Given the description of an element on the screen output the (x, y) to click on. 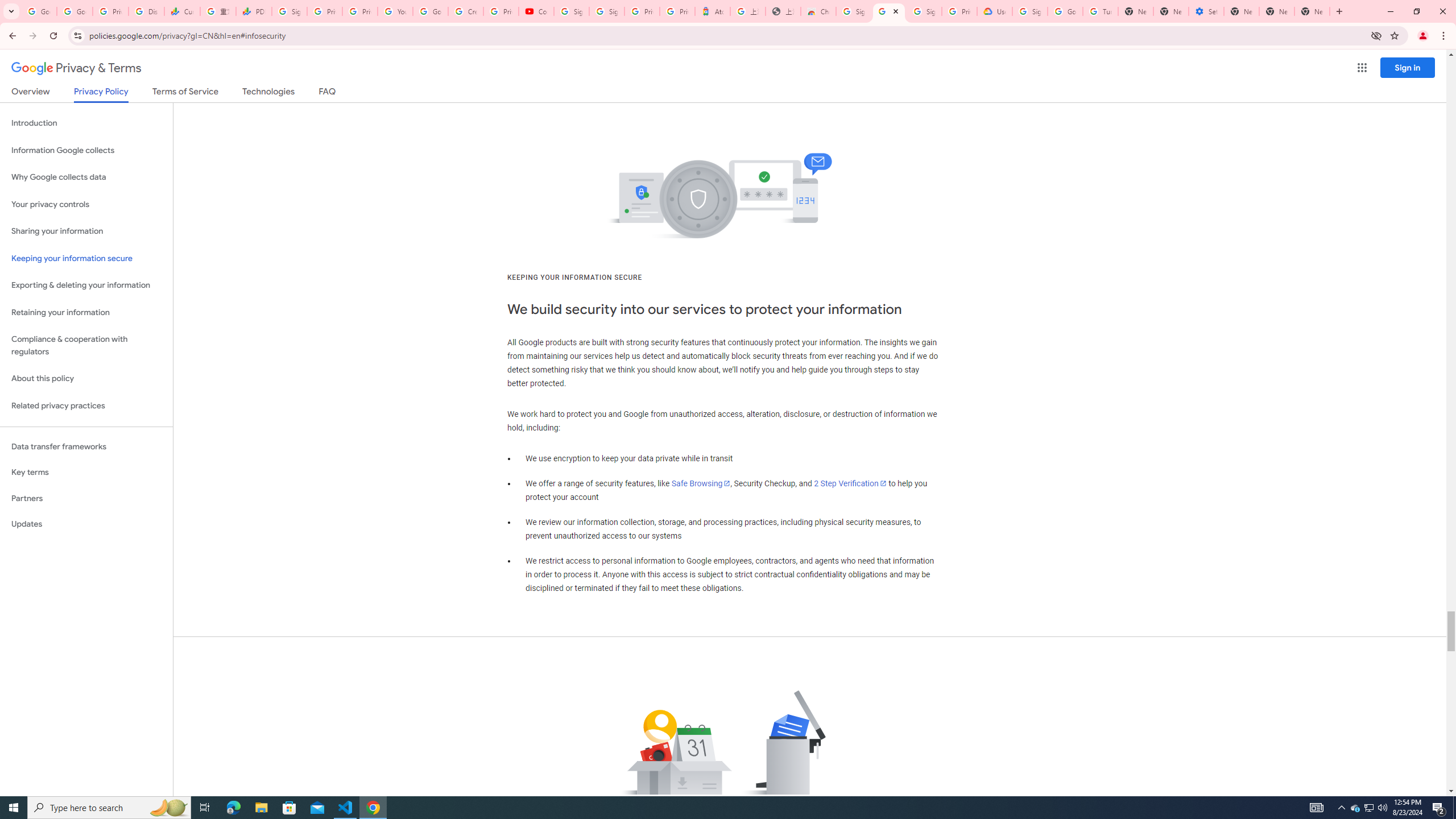
Sign in - Google Accounts (605, 11)
Exporting & deleting your information (86, 284)
Sharing your information (86, 230)
Information Google collects (86, 150)
Privacy Checkup (359, 11)
Turn cookies on or off - Computer - Google Account Help (1099, 11)
Compliance & cooperation with regulators (86, 345)
Safe Browsing (700, 483)
